Given the description of an element on the screen output the (x, y) to click on. 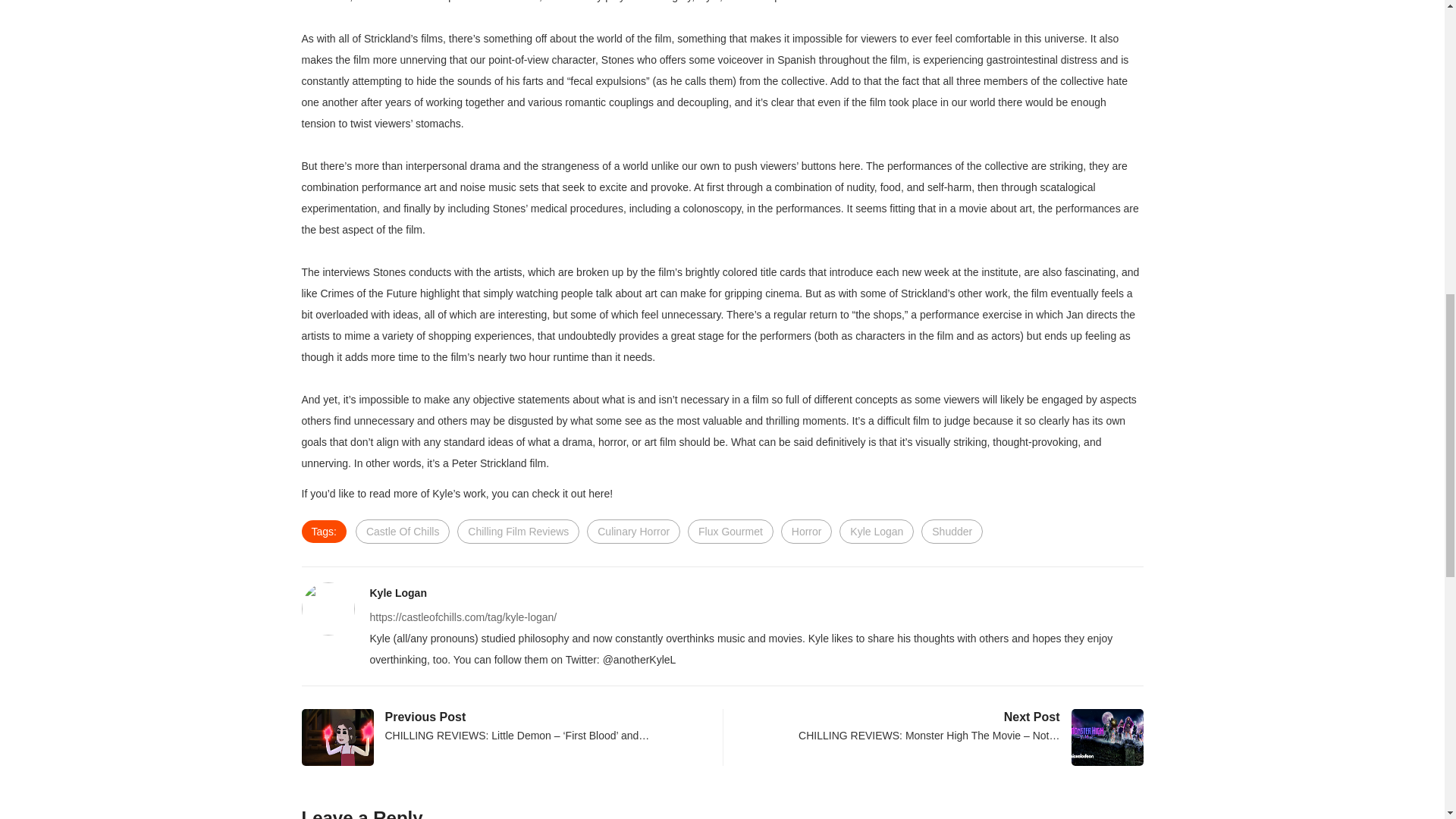
Culinary Horror (632, 531)
Flux Gourmet (730, 531)
Horror (806, 531)
Castle Of Chills (402, 531)
Chilling Film Reviews (518, 531)
